Given the description of an element on the screen output the (x, y) to click on. 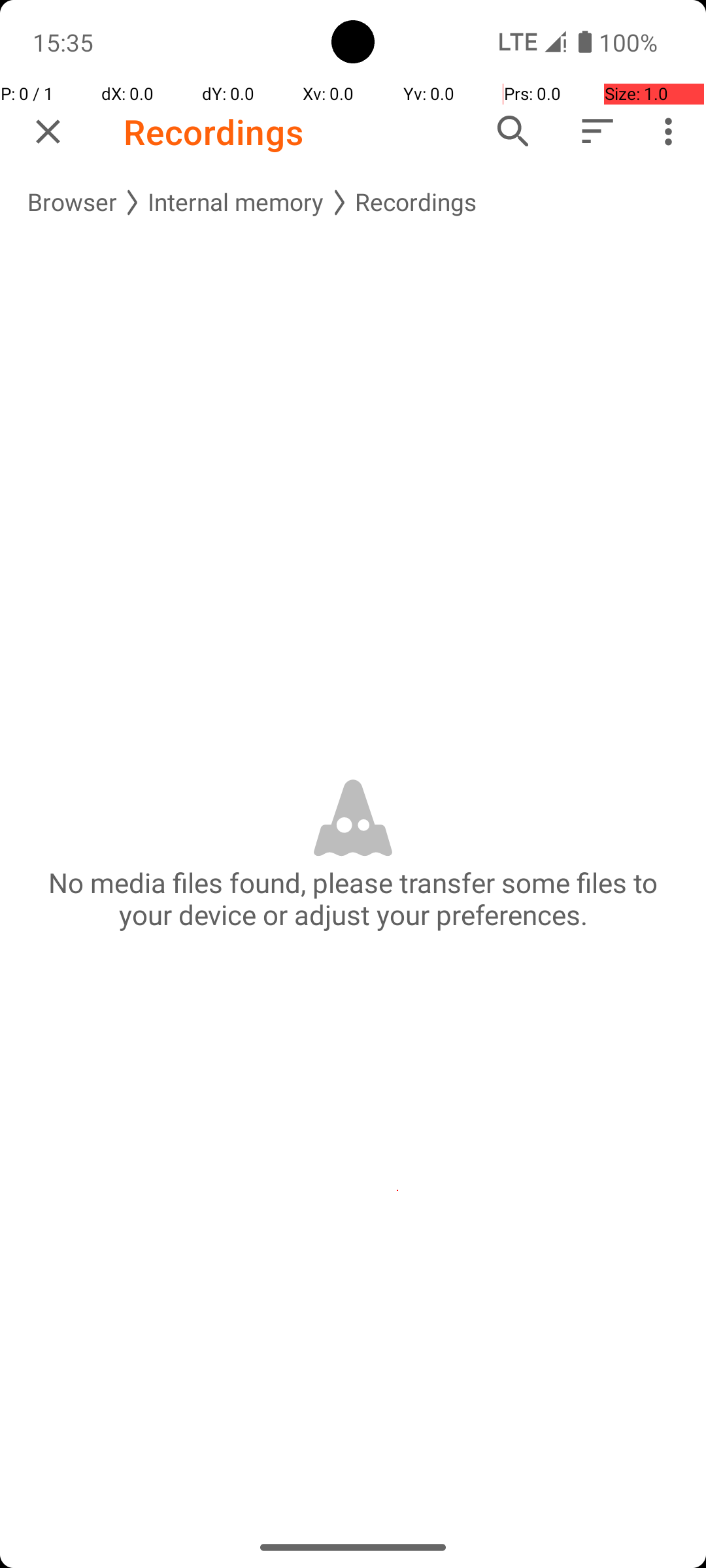
Recordings Element type: android.widget.TextView (213, 131)
Browser Element type: android.widget.TextView (72, 202)
